Given the description of an element on the screen output the (x, y) to click on. 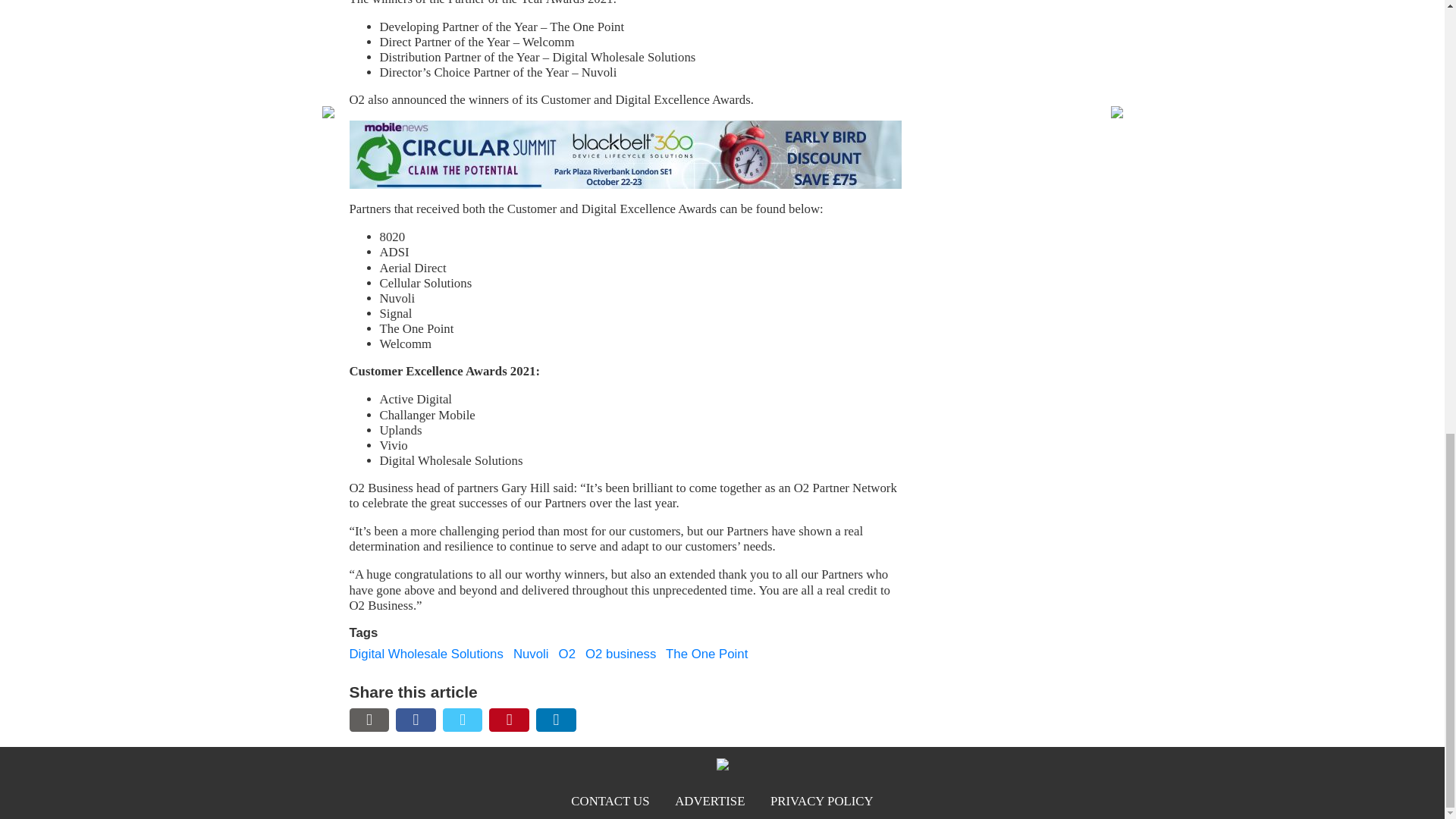
O2 (567, 653)
The One Point (706, 653)
O2 business (620, 653)
Digital Wholesale Solutions (425, 653)
Nuvoli (530, 653)
